Given the description of an element on the screen output the (x, y) to click on. 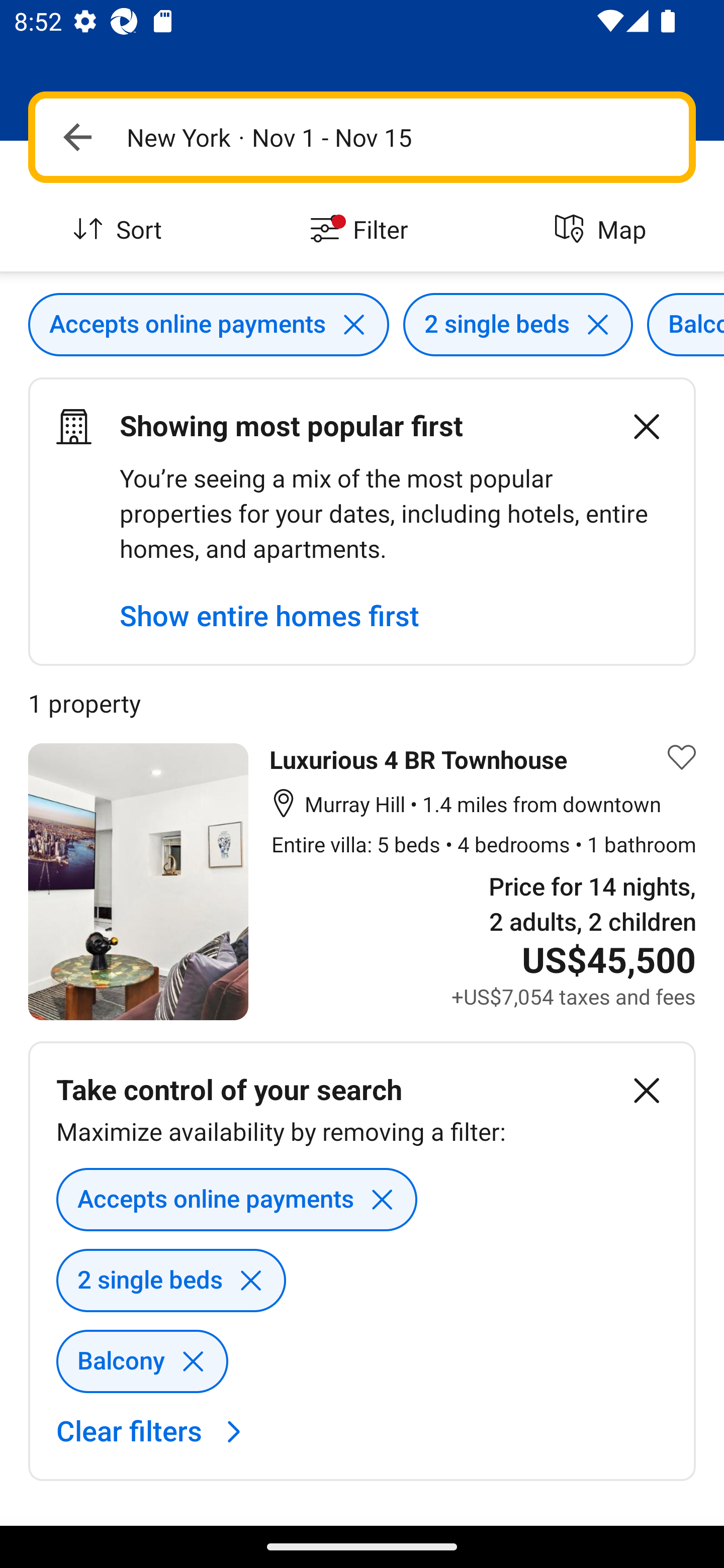
Navigate up New York · Nov 1 - Nov 15 (362, 136)
Navigate up (77, 136)
Sort (120, 230)
Filter (361, 230)
Map (603, 230)
Clear (635, 426)
Show entire homes first (269, 615)
Save property to list (681, 757)
Close this section (646, 1090)
Clear filters (153, 1431)
